Given the description of an element on the screen output the (x, y) to click on. 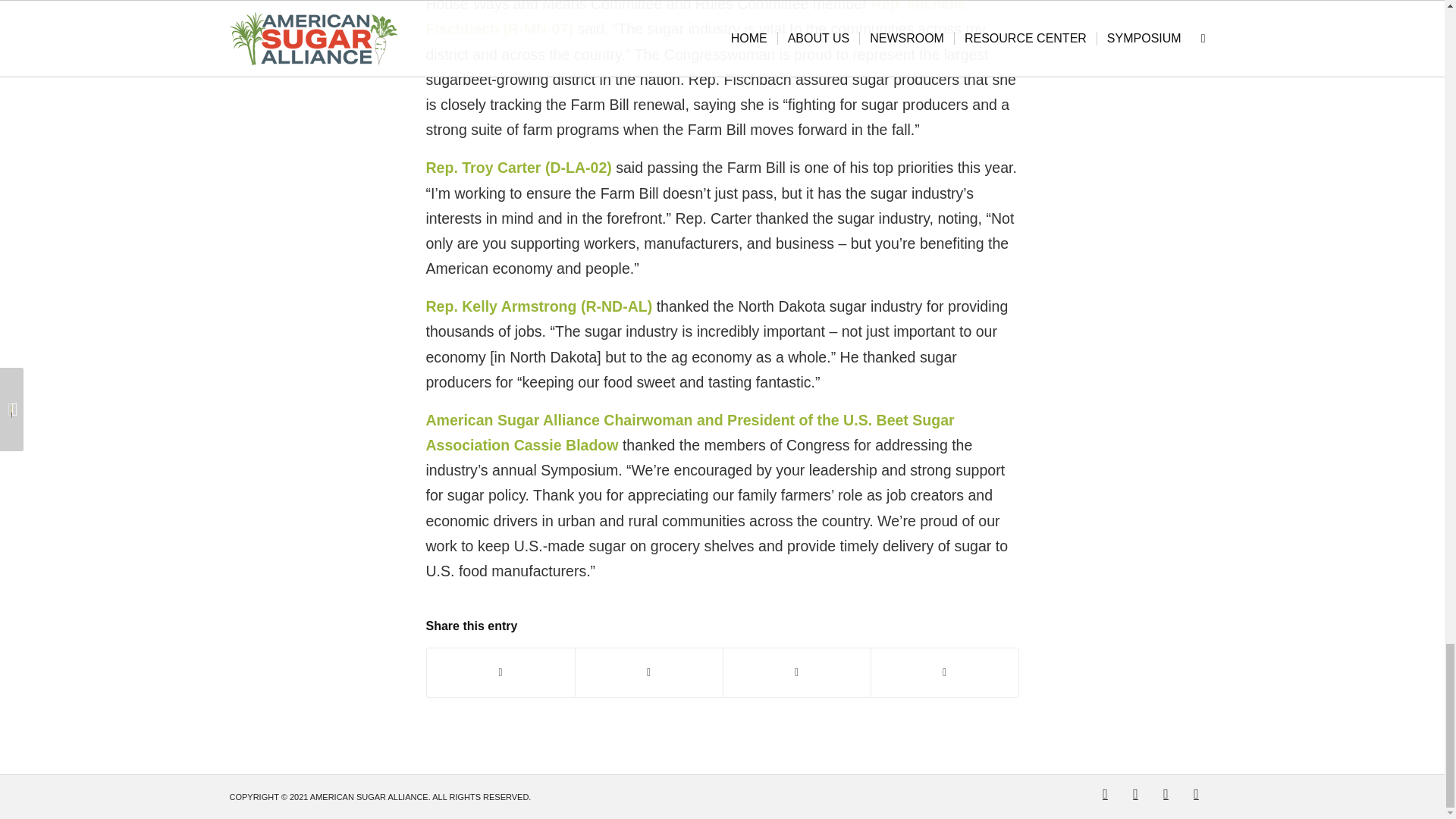
Twitter (1104, 793)
Facebook (1135, 793)
Instagram (1196, 793)
Youtube (1165, 793)
